Given the description of an element on the screen output the (x, y) to click on. 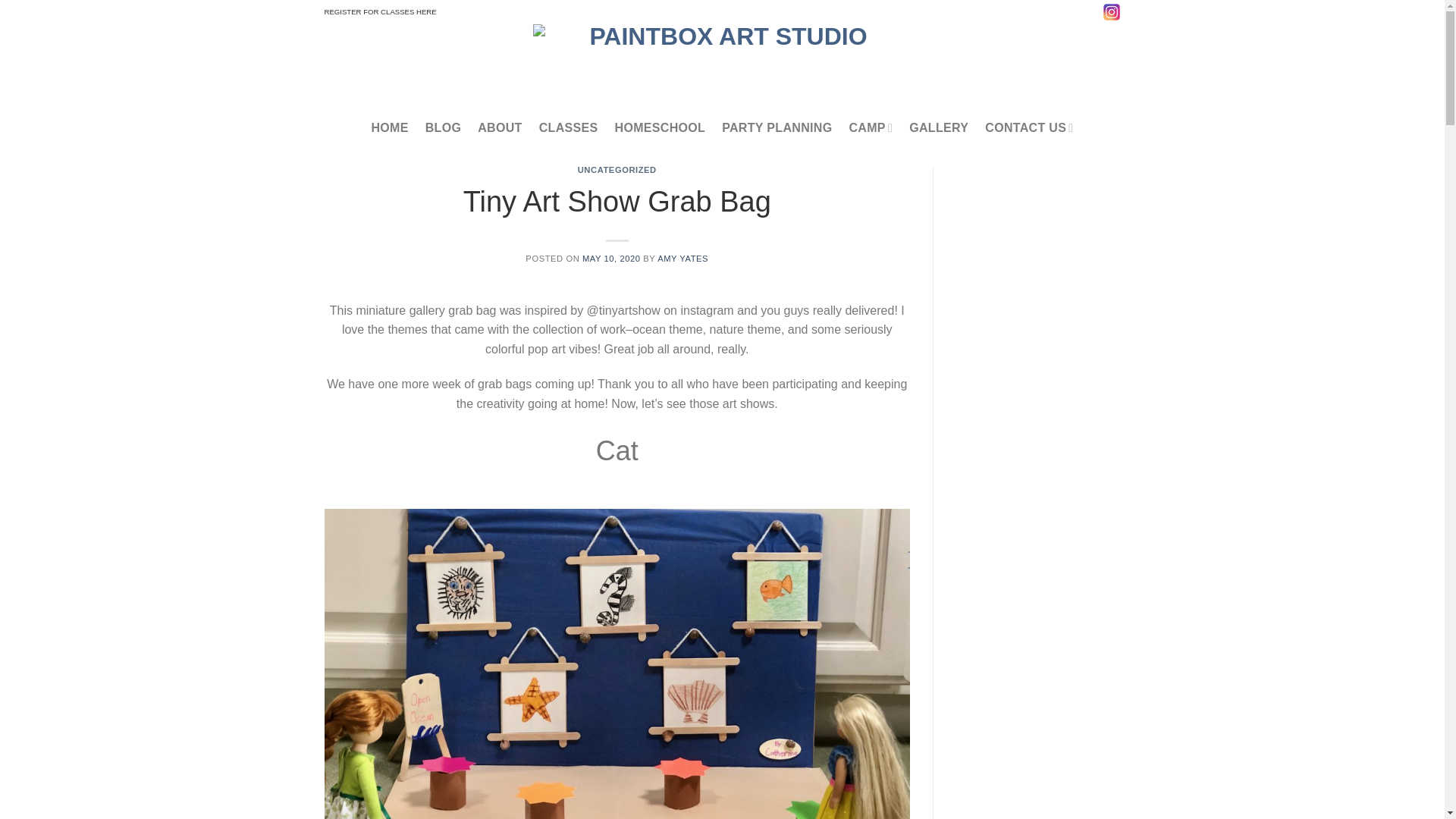
CAMP (870, 127)
HOME (389, 127)
AMY YATES (682, 257)
PARTY PLANNING (776, 127)
GALLERY (938, 127)
MAY 10, 2020 (611, 257)
HOMESCHOOL (660, 127)
ABOUT (499, 127)
UNCATEGORIZED (617, 169)
REGISTER FOR CLASSES HERE (380, 11)
CLASSES (568, 127)
BLOG (443, 127)
CONTACT US (1029, 127)
